Given the description of an element on the screen output the (x, y) to click on. 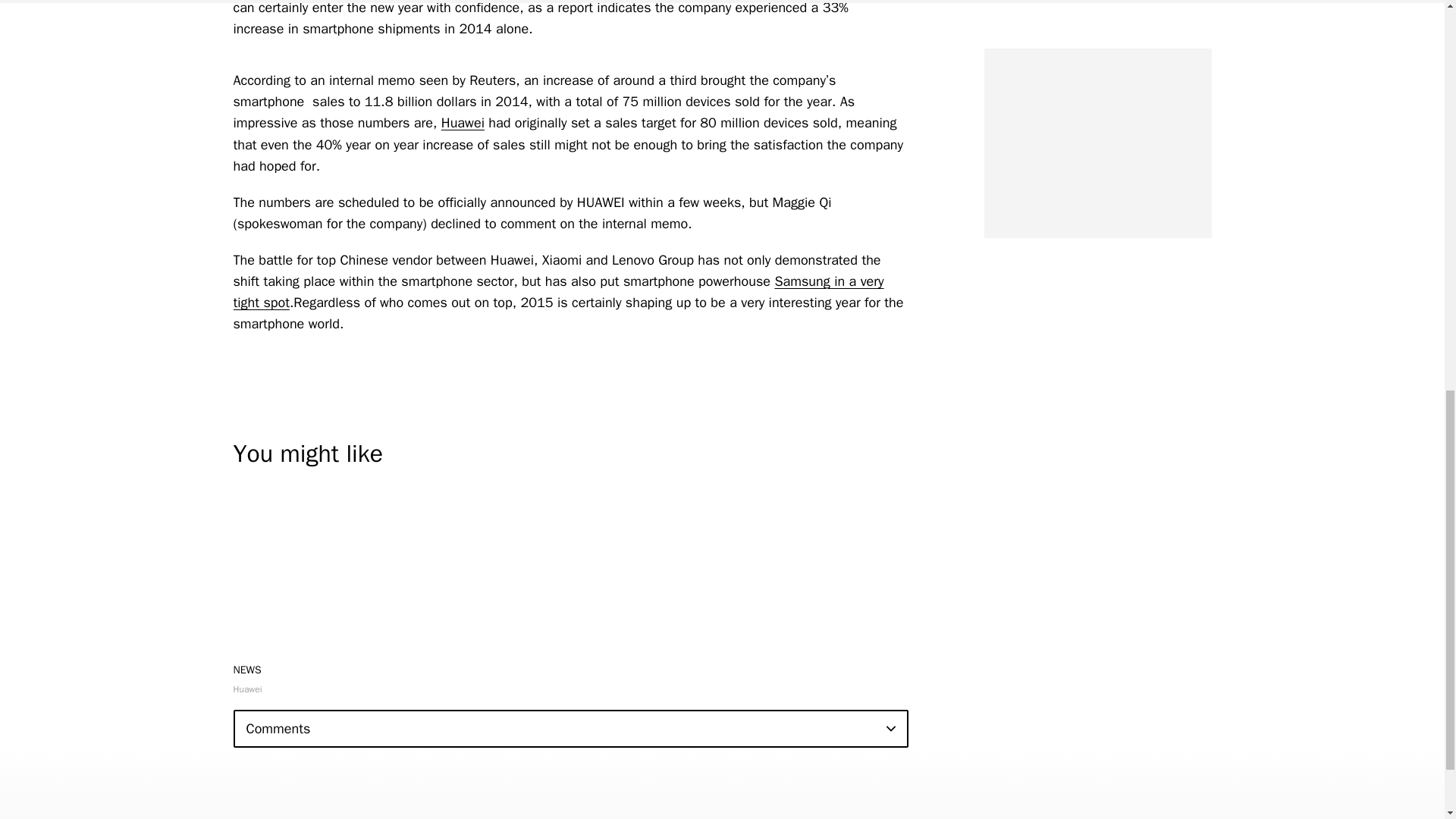
Huawei (462, 122)
NEWS (247, 670)
Samsung in a very tight spot (557, 291)
Comments (570, 728)
Huawei (247, 689)
